Given the description of an element on the screen output the (x, y) to click on. 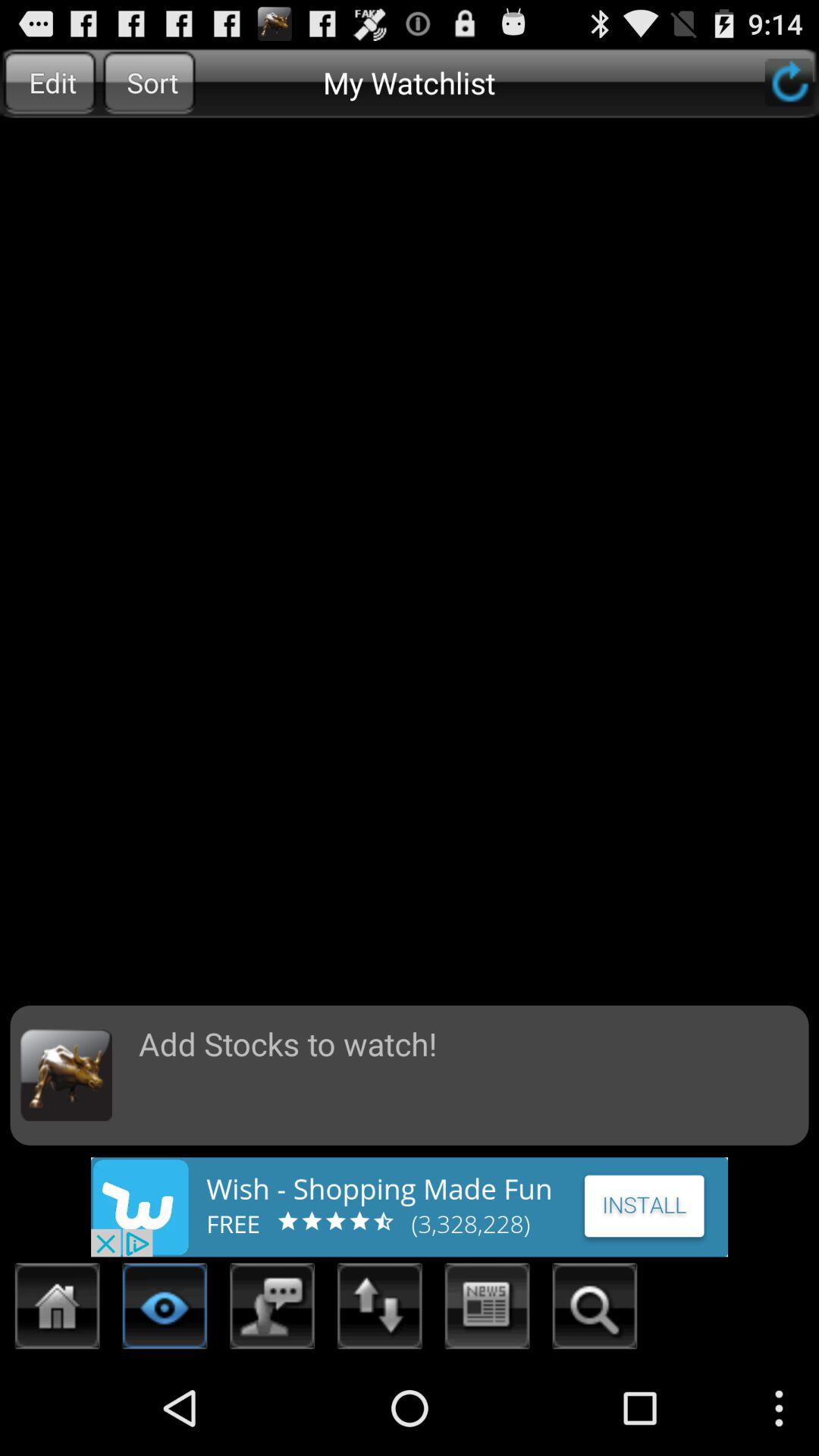
toggle ascending/descending sort (379, 1310)
